Given the description of an element on the screen output the (x, y) to click on. 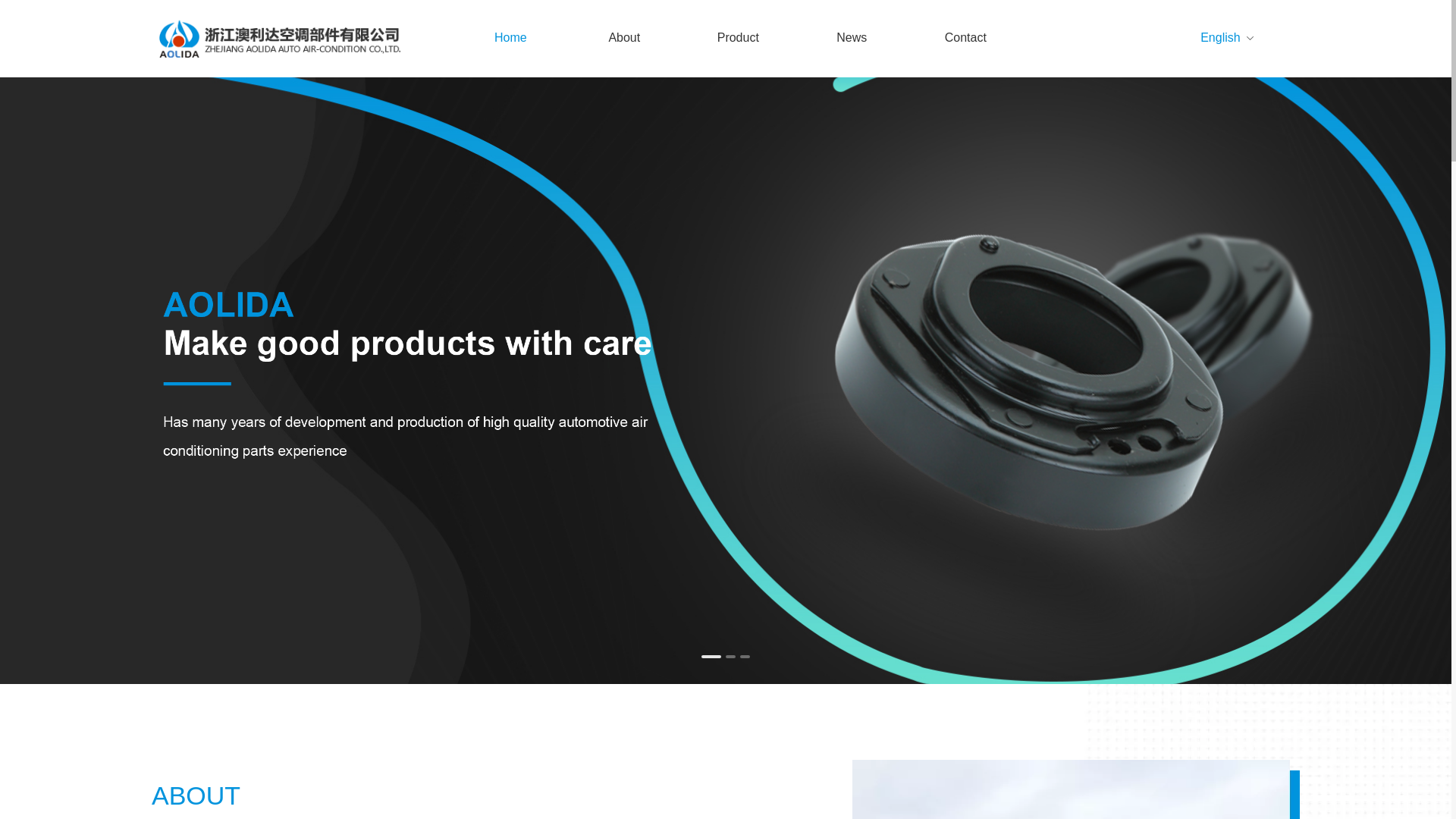
Contact (964, 37)
News (851, 37)
About (623, 37)
Product (737, 37)
Home (510, 37)
